Given the description of an element on the screen output the (x, y) to click on. 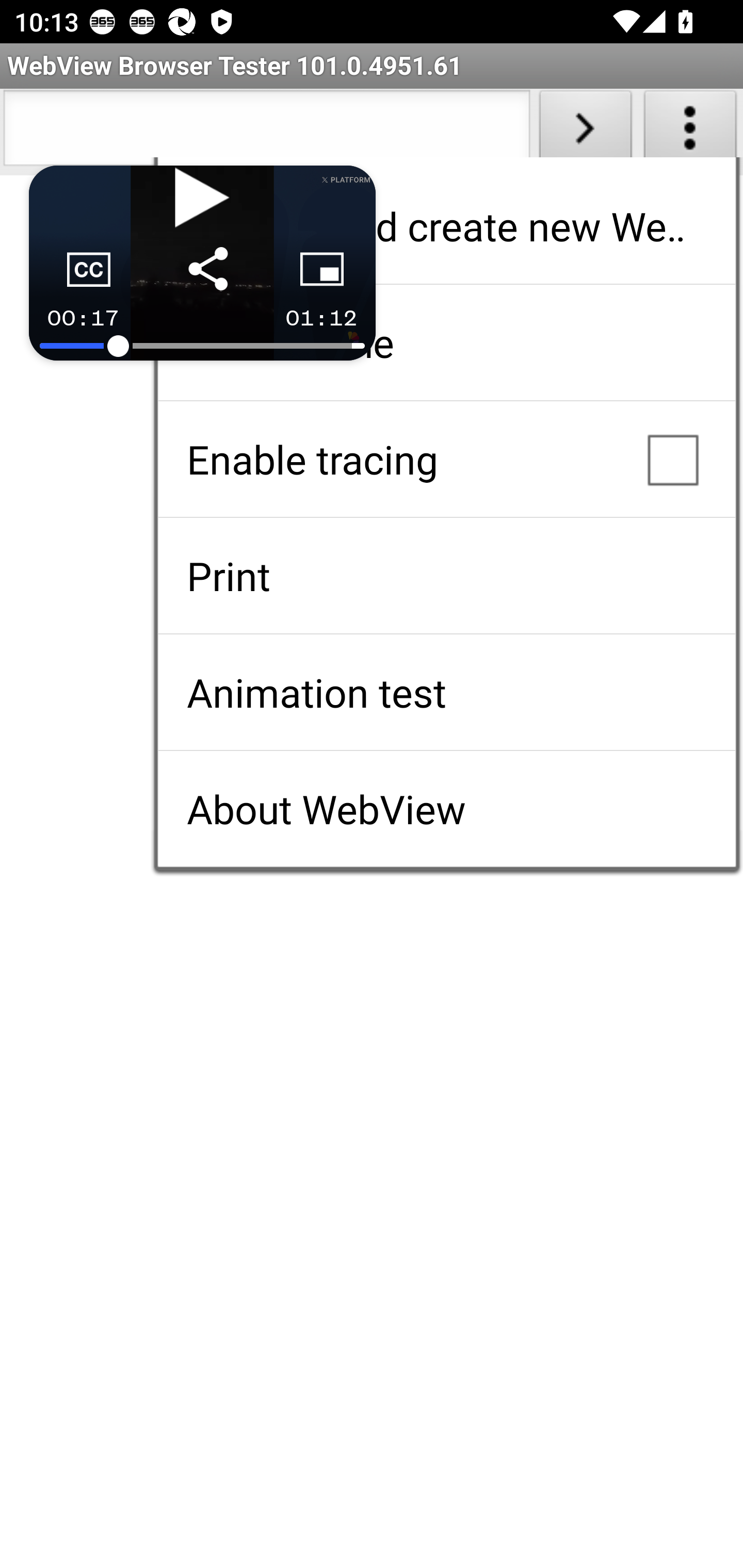
Enable tracing (446, 459)
Print (446, 575)
Animation test (446, 692)
About WebView (446, 809)
